Given the description of an element on the screen output the (x, y) to click on. 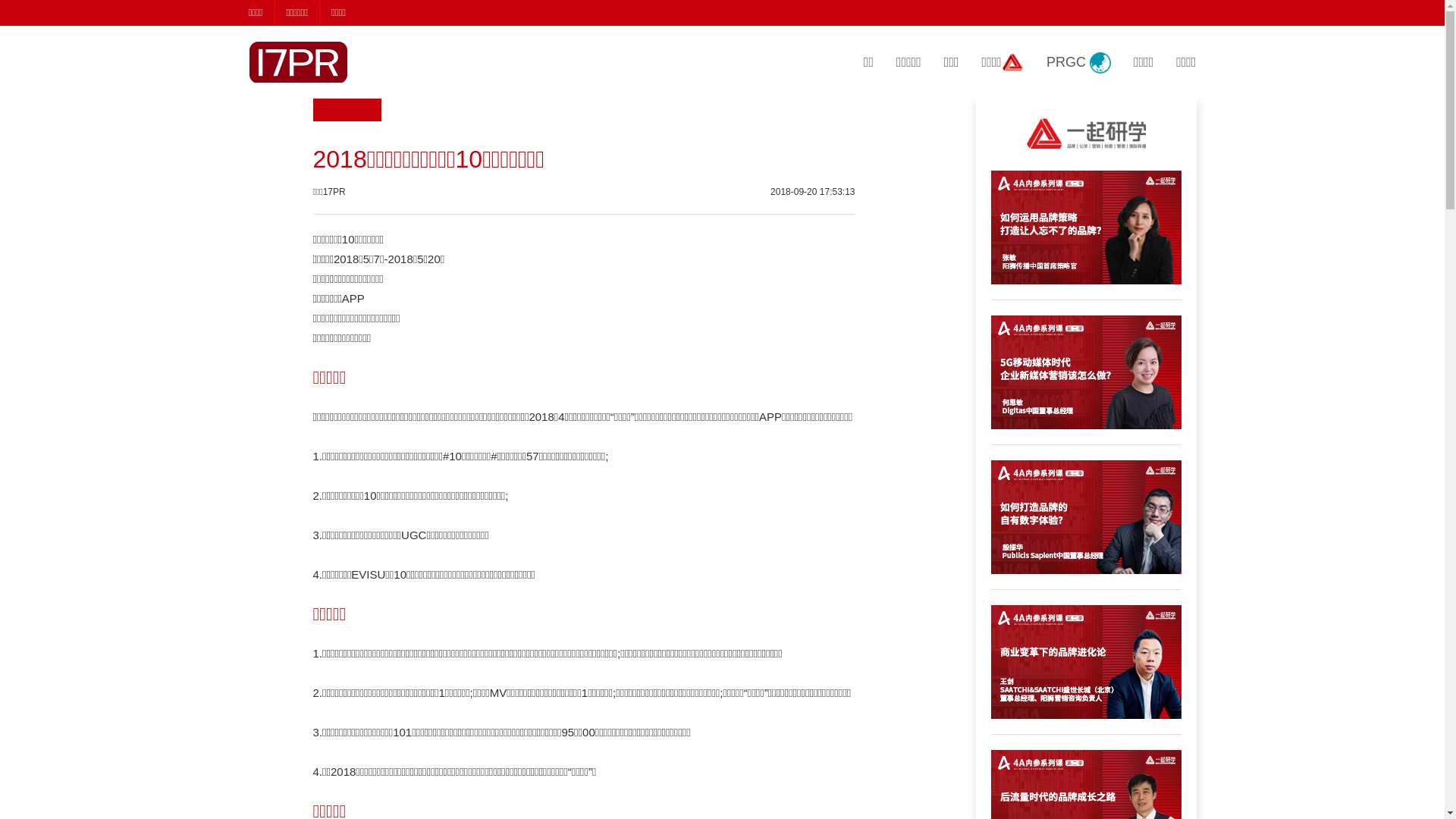
PRGC Element type: text (1078, 63)
